Given the description of an element on the screen output the (x, y) to click on. 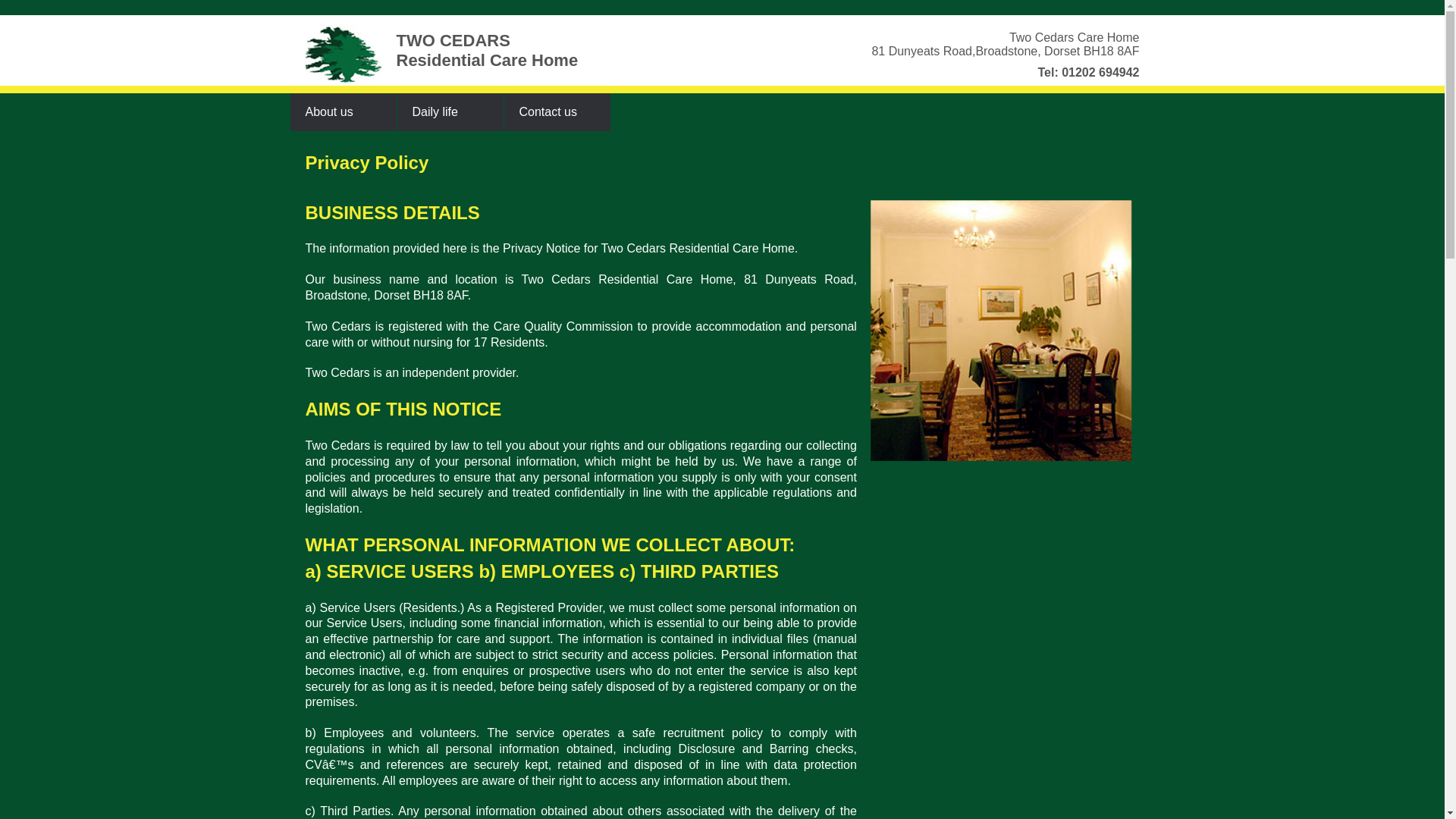
About us (342, 112)
Daily life (450, 112)
Contact us (556, 112)
